Given the description of an element on the screen output the (x, y) to click on. 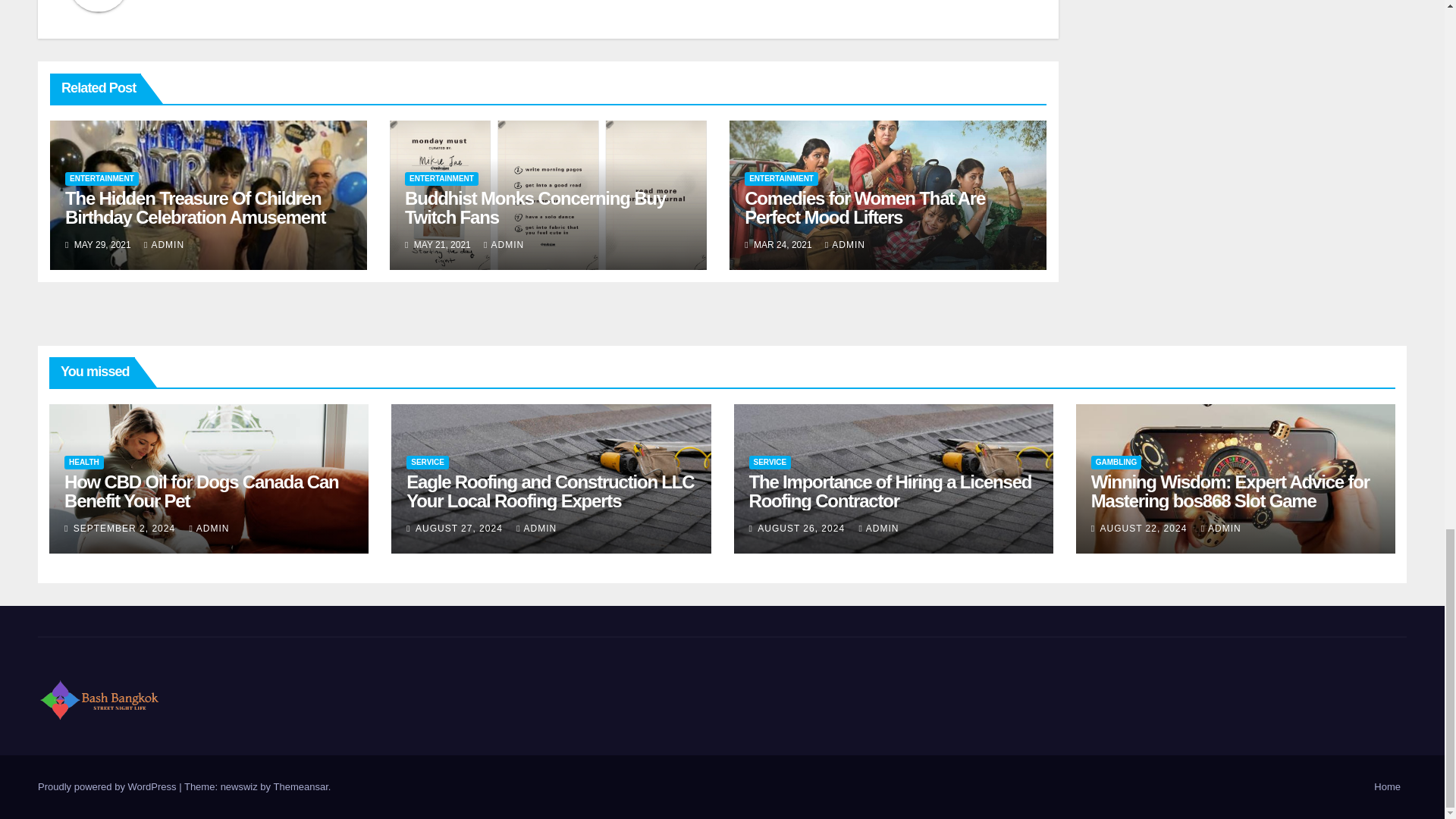
ADMIN (164, 244)
ENTERTAINMENT (441, 178)
ENTERTAINMENT (101, 178)
Buddhist Monks Concerning Buy Twitch Fans (534, 207)
ADMIN (503, 244)
